Given the description of an element on the screen output the (x, y) to click on. 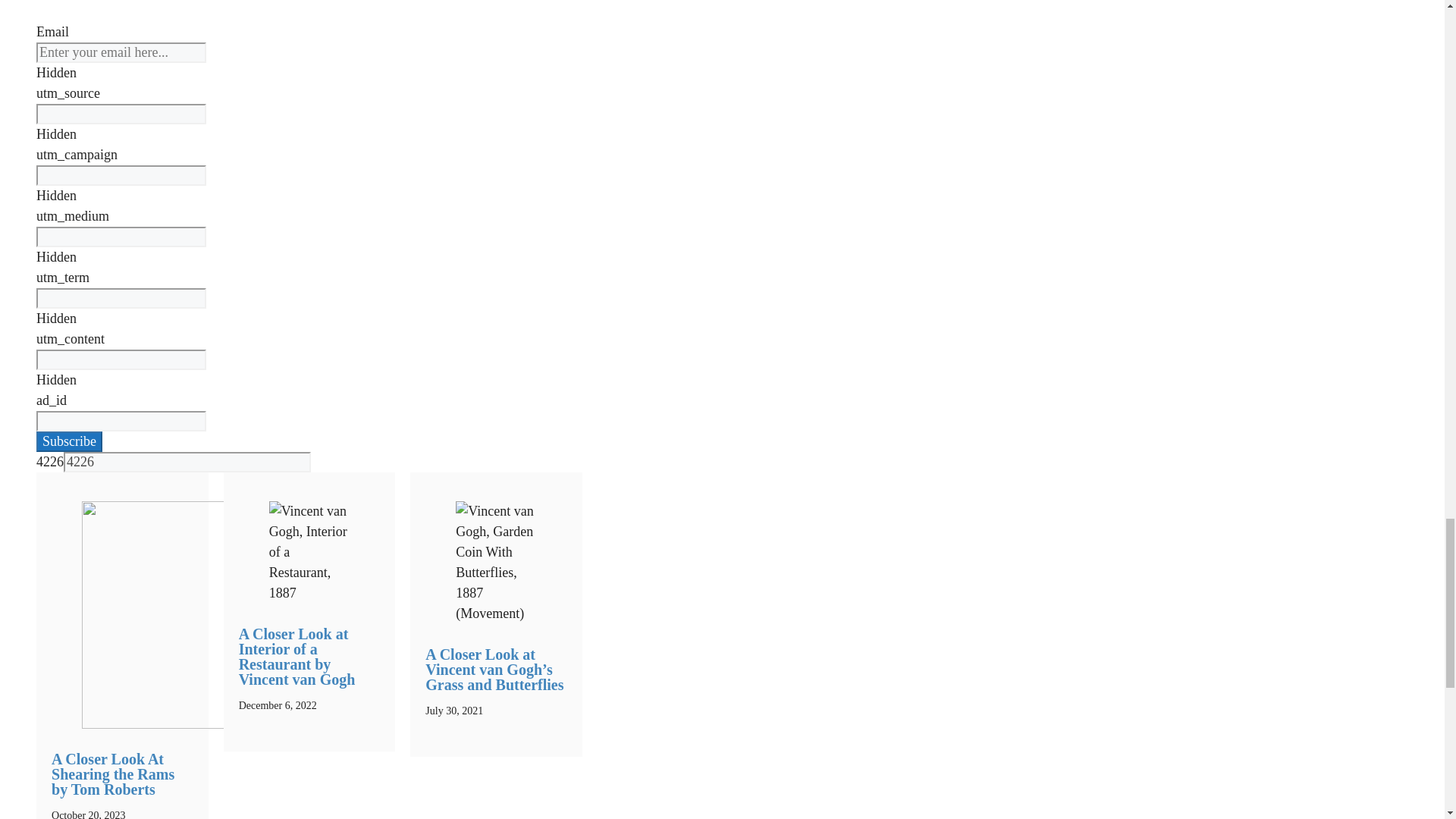
A Closer Look At Shearing the Rams by Tom Roberts (112, 774)
Subscribe (68, 441)
Subscribe (68, 441)
4226 (187, 462)
